Given the description of an element on the screen output the (x, y) to click on. 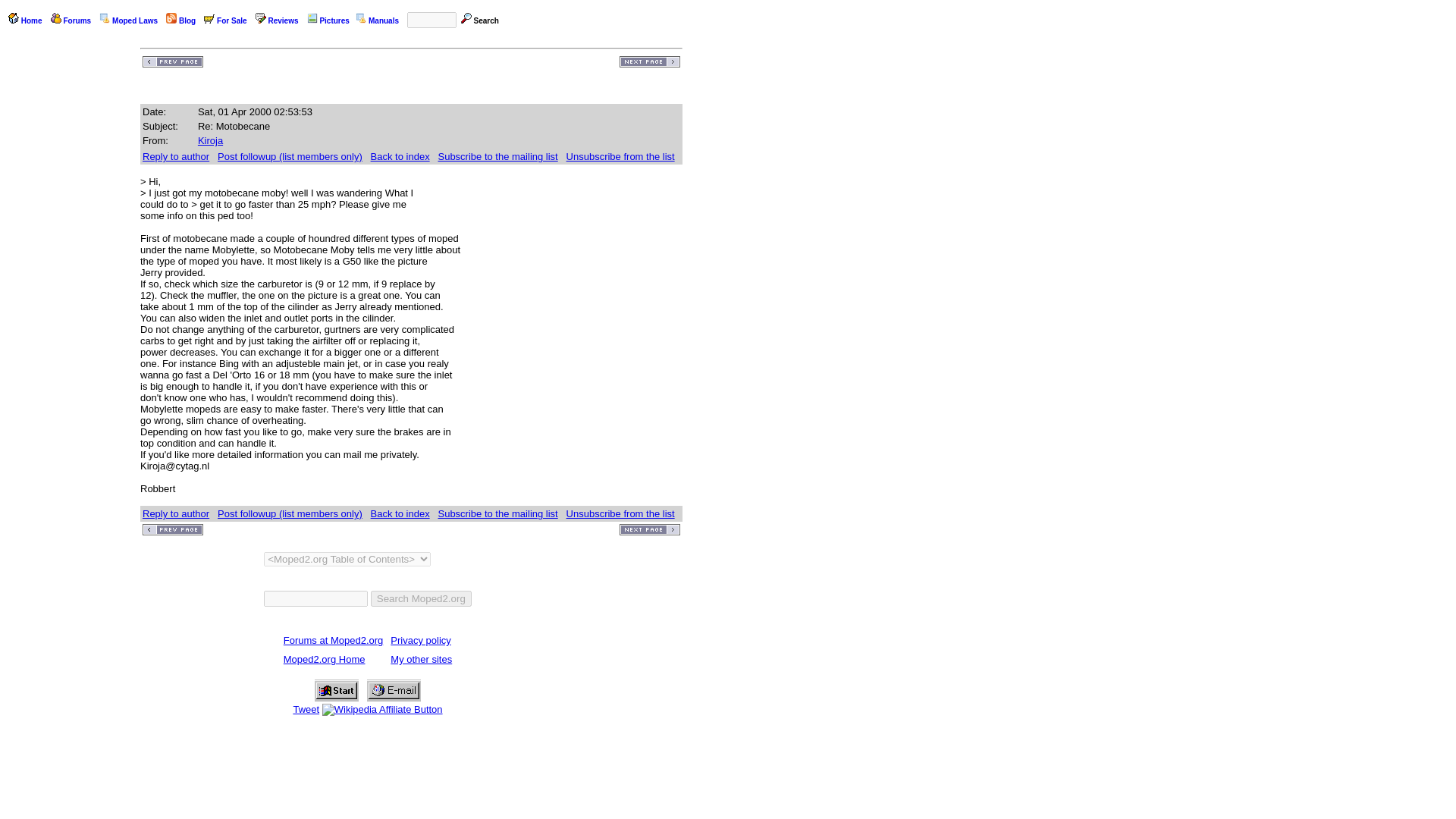
Moped Laws (134, 20)
For Sale (231, 20)
Subscribe to the mailing list (497, 156)
Tweet (305, 708)
Reviews (282, 20)
Pictures (333, 20)
Search Moped2.org (421, 598)
Unsubscribe from the list (620, 513)
Home (31, 20)
Reply to author (175, 513)
Privacy policy (419, 640)
Search (485, 20)
My other sites (420, 659)
Forums at Moped2.org (333, 640)
Subscribe to the mailing list (497, 513)
